Given the description of an element on the screen output the (x, y) to click on. 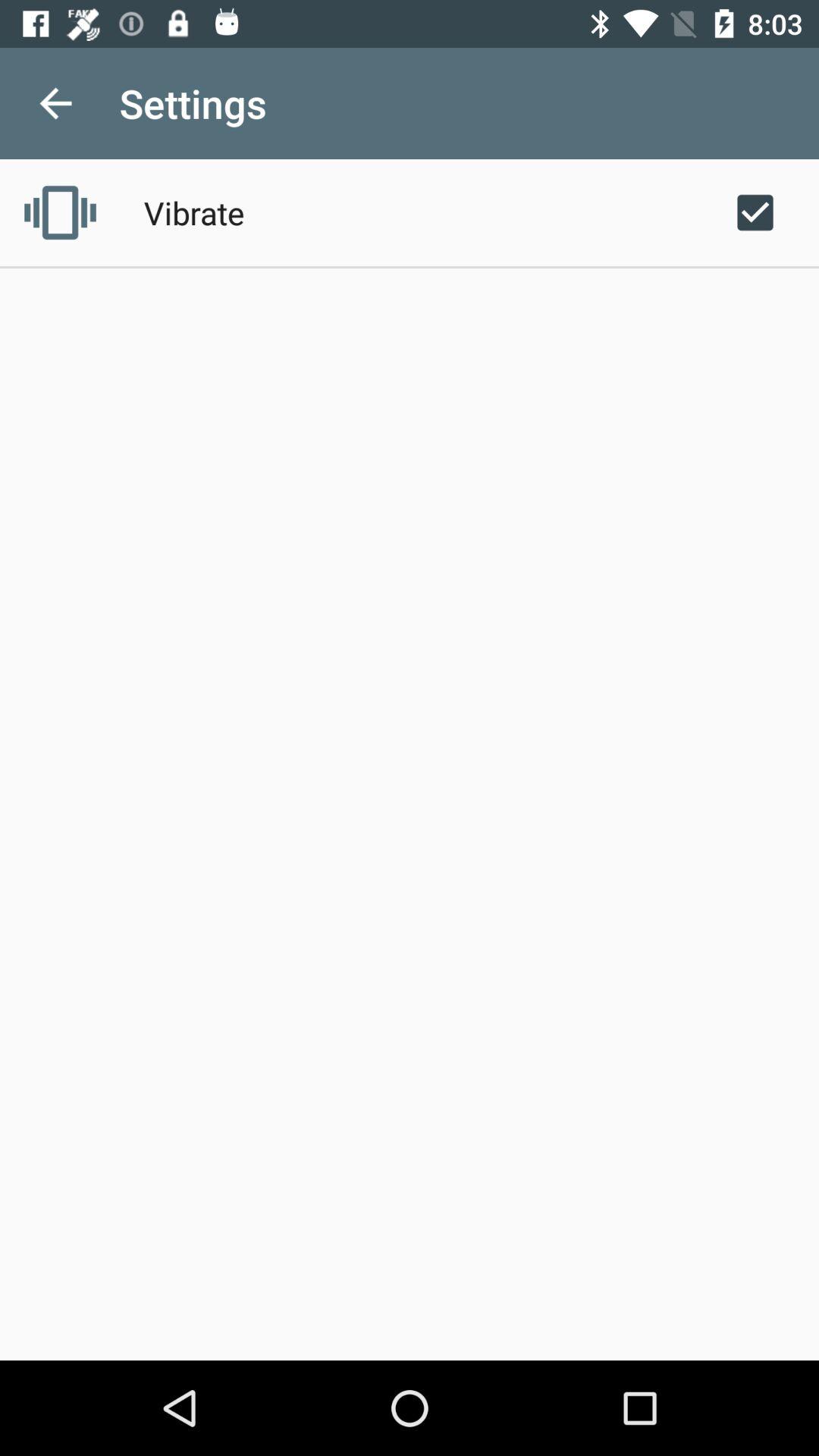
go back (55, 103)
